Given the description of an element on the screen output the (x, y) to click on. 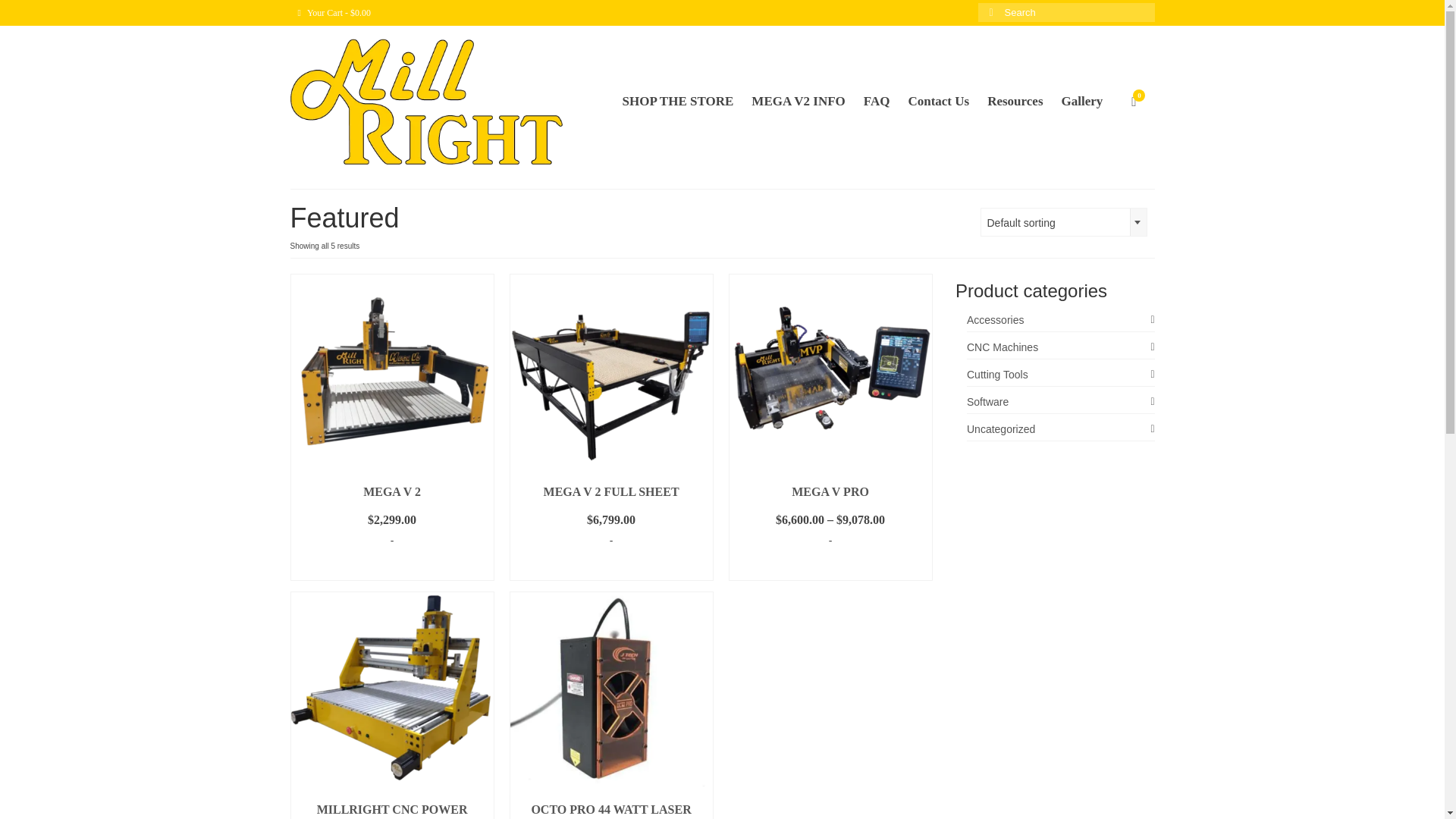
MEGA V PRO (830, 491)
Uncategorized (1060, 429)
View your shopping cart (333, 12)
MEGA V 2 (392, 491)
MillRight CNC, LLC (425, 101)
MEGA V 2 FULL SHEET (610, 491)
CNC Machines (1060, 347)
Default sorting (1064, 222)
SELECT OPTIONS (830, 567)
Cutting Tools (1060, 374)
SELECT YOUR OPTIONS (392, 567)
SELECT YOUR OPTIONS (610, 567)
Software (1060, 402)
Accessories (1060, 320)
MILLRIGHT CNC POWER ROUTE PLUS (392, 806)
